Given the description of an element on the screen output the (x, y) to click on. 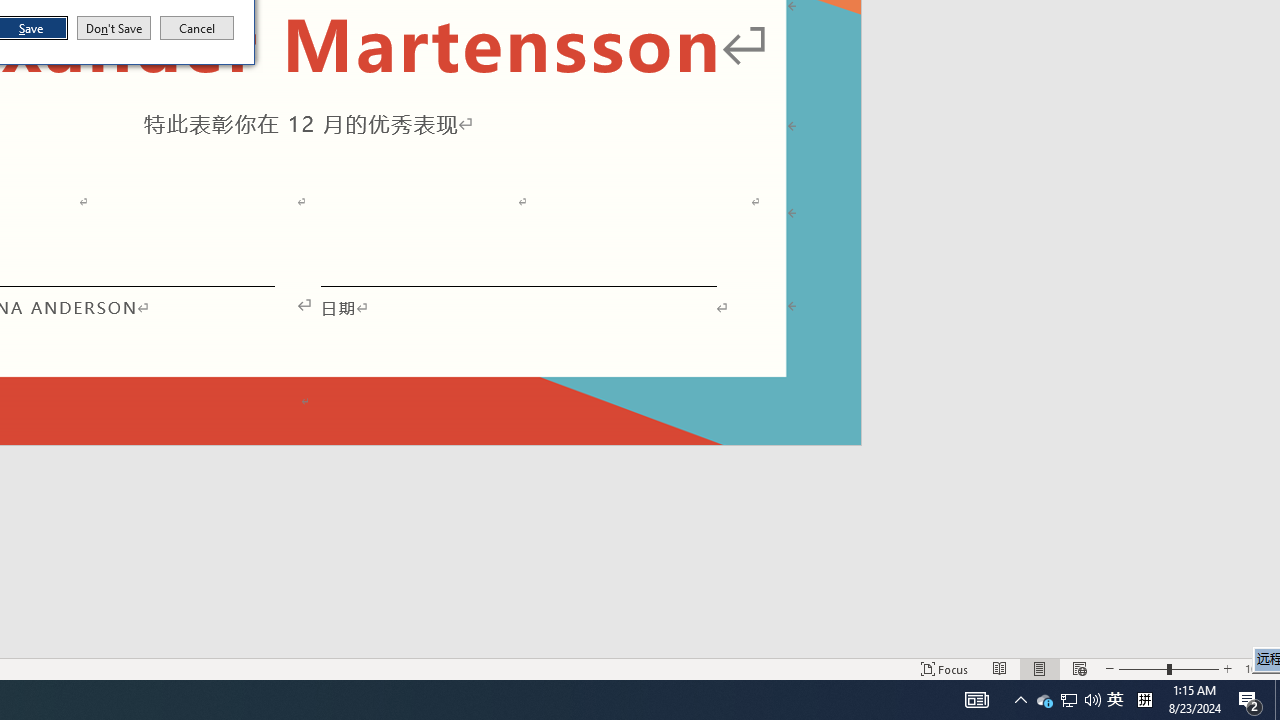
Zoom 100% (1258, 668)
Tray Input Indicator - Chinese (Simplified, China) (1144, 699)
